Given the description of an element on the screen output the (x, y) to click on. 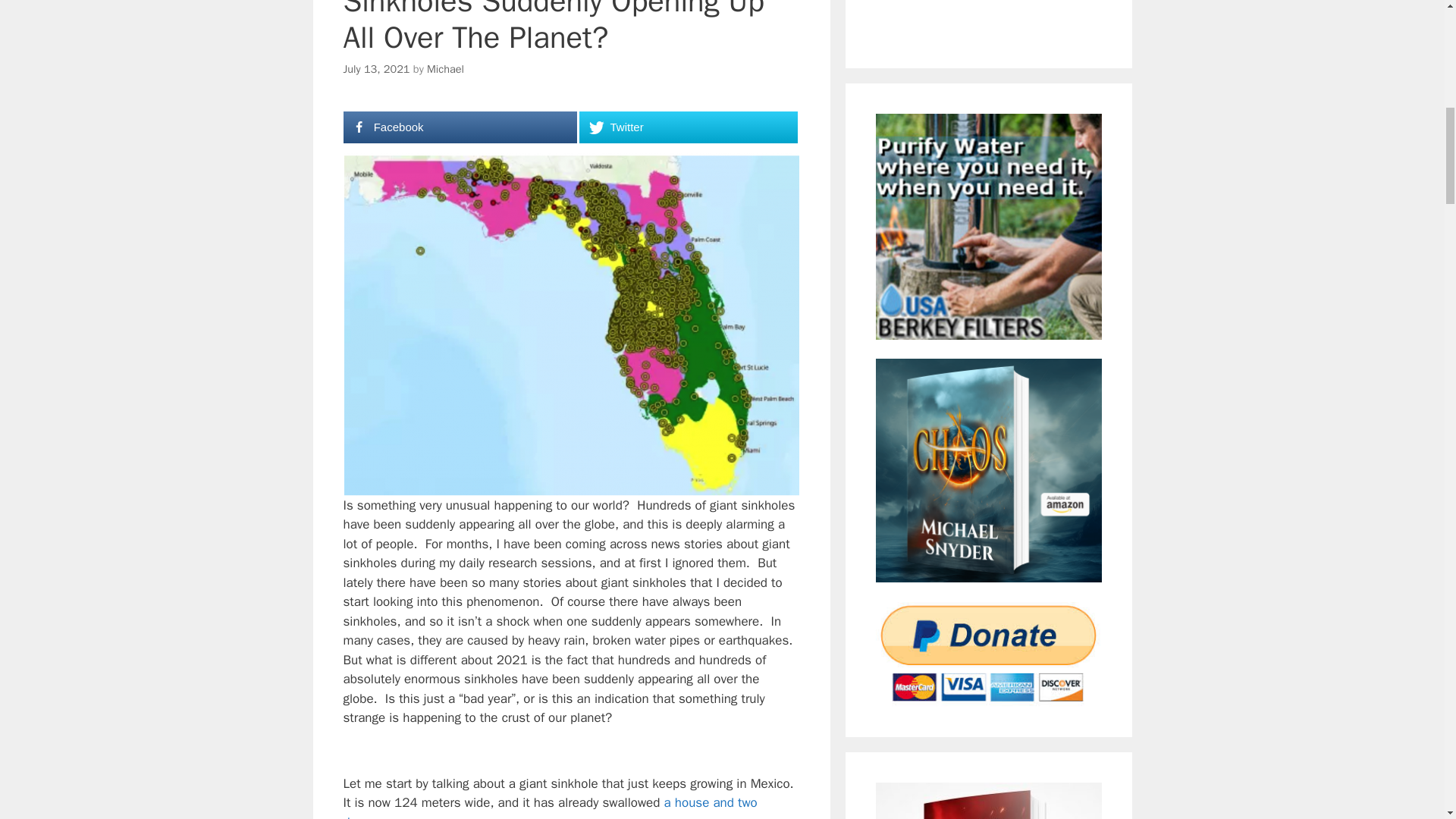
July 13, 2021 (375, 69)
a house and two dogs (549, 806)
Facebook (459, 127)
Twitter (687, 127)
Twitter (687, 127)
View all posts by Michael (445, 69)
Facebook (459, 127)
a house and two dogs (549, 806)
8:05 pm (375, 69)
Michael (445, 69)
